Given the description of an element on the screen output the (x, y) to click on. 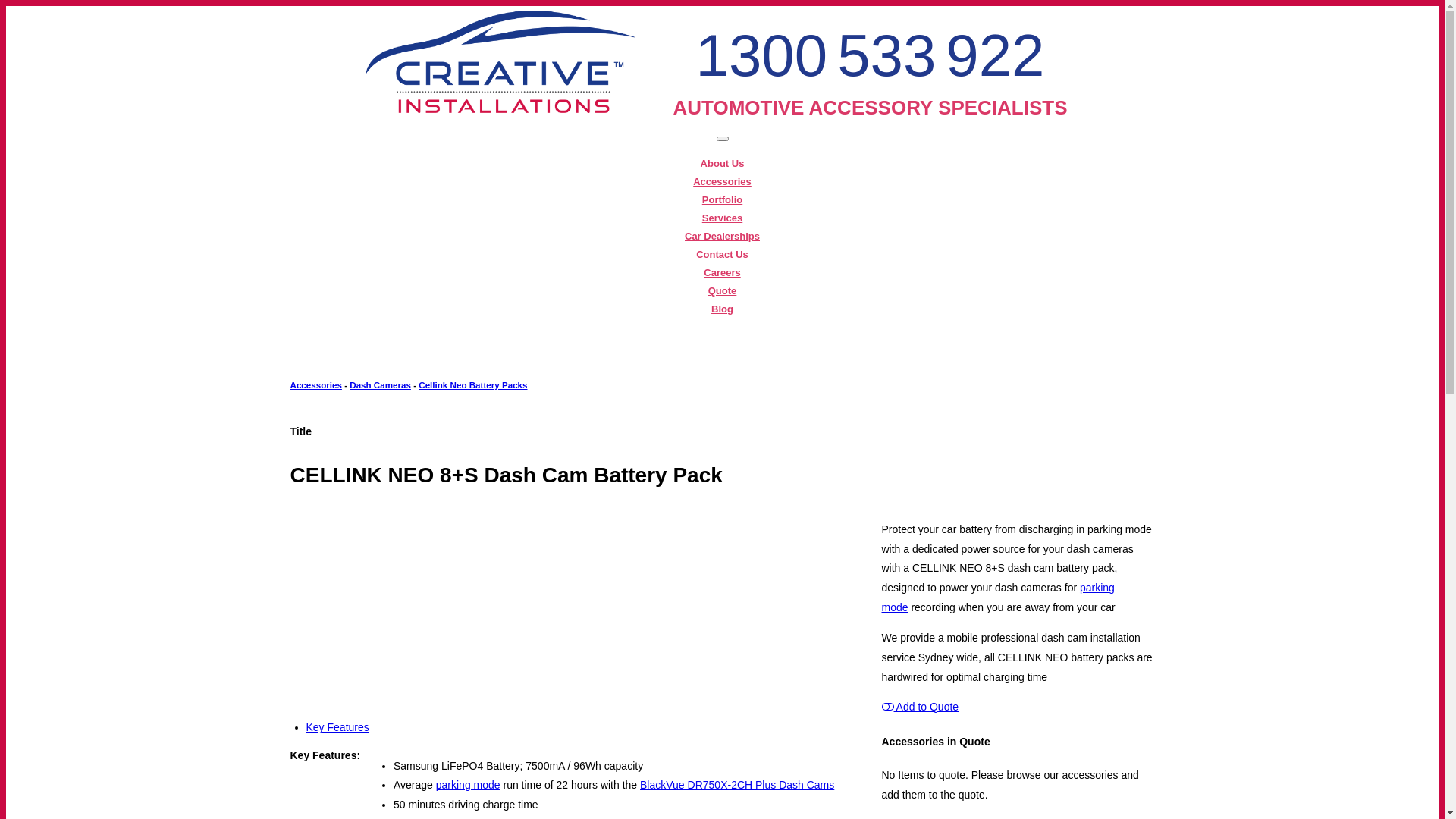
Blog Element type: text (722, 308)
Quote Element type: text (722, 290)
Home Element type: hover (500, 111)
Car Dealerships Element type: text (721, 235)
Skip to main content Element type: text (54, 6)
Accessories Element type: text (722, 181)
Services Element type: text (722, 217)
Dash Cameras Element type: text (380, 384)
BlackVue DR750X-2CH Plus Dash Cams Element type: text (737, 784)
Key Features Element type: text (337, 727)
Accessories Element type: text (315, 384)
Careers Element type: text (721, 272)
Add to Quote Element type: text (919, 706)
Cellink Neo Battery Packs Element type: text (472, 384)
Toggle navigation Element type: text (721, 138)
parking mode Element type: text (468, 784)
About Us Element type: text (722, 163)
parking mode Element type: text (997, 597)
1300 533 922 Element type: text (870, 54)
Contact Us Element type: text (722, 254)
Portfolio Element type: text (722, 199)
